Given the description of an element on the screen output the (x, y) to click on. 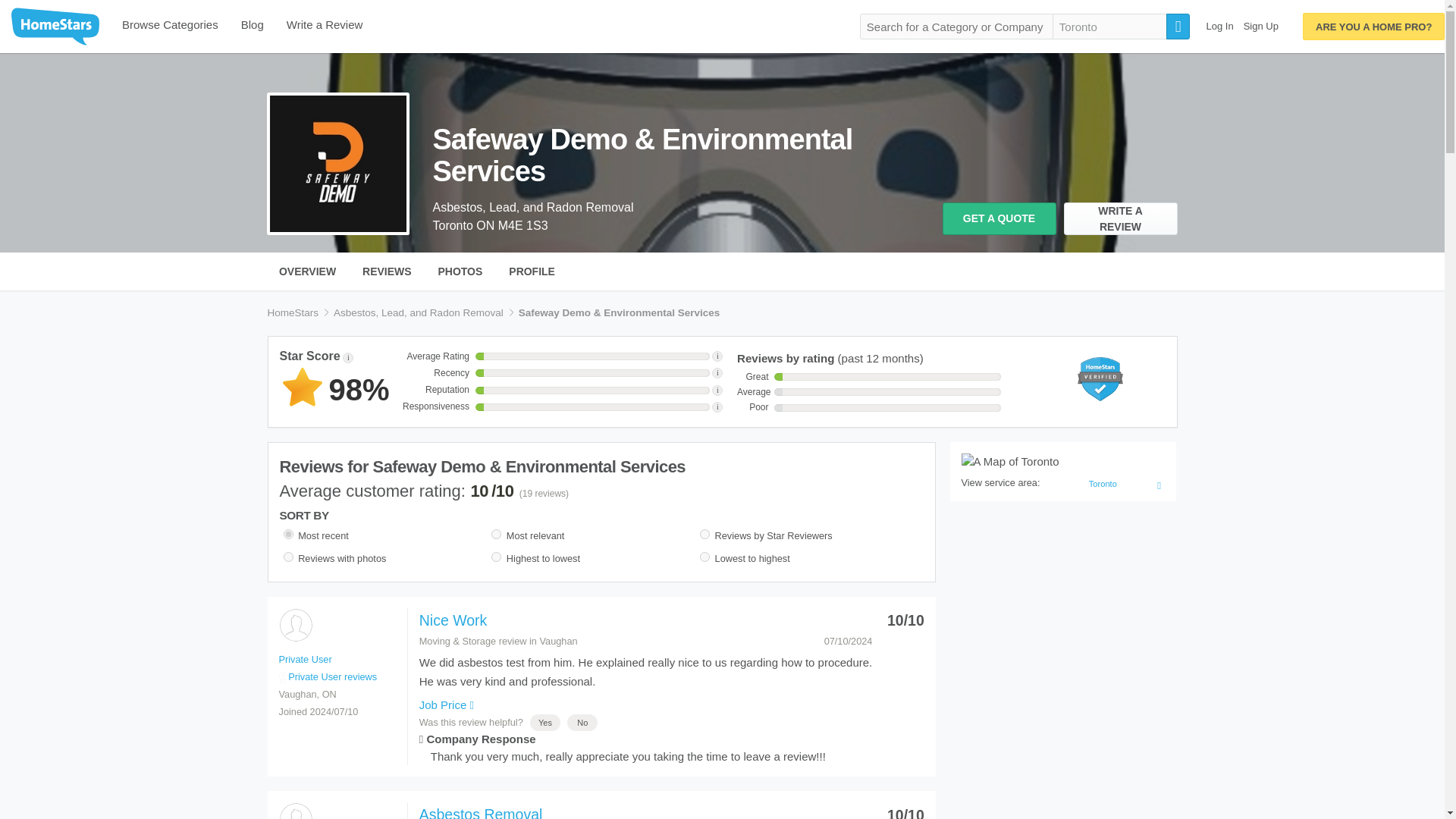
Private User (295, 811)
No (582, 722)
OVERVIEW (306, 271)
relevant (496, 533)
19 reviews (544, 493)
HomeStars (292, 312)
WRITE A REVIEW (1119, 218)
GET A QUOTE (998, 218)
REVIEWS (387, 271)
Sign Up (1260, 25)
